Given the description of an element on the screen output the (x, y) to click on. 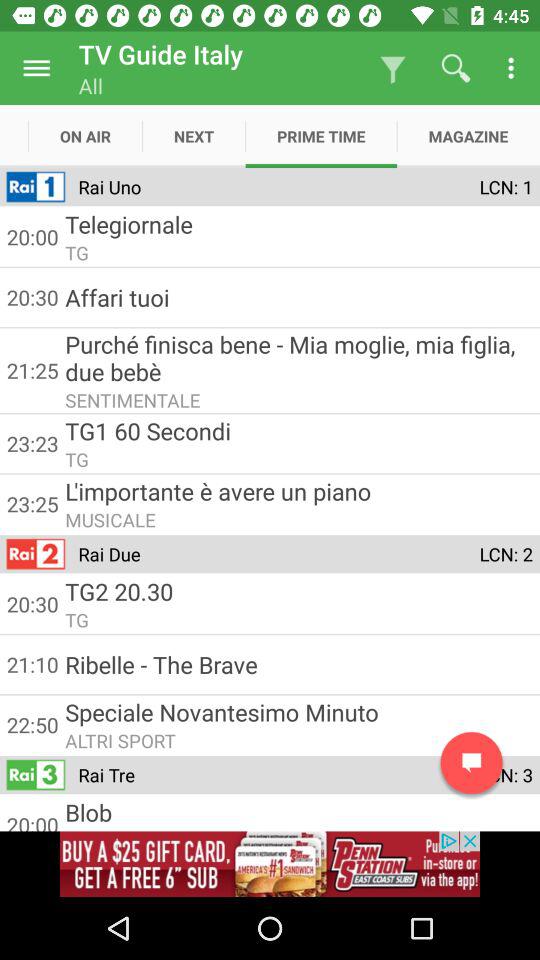
go to menu (36, 68)
